Given the description of an element on the screen output the (x, y) to click on. 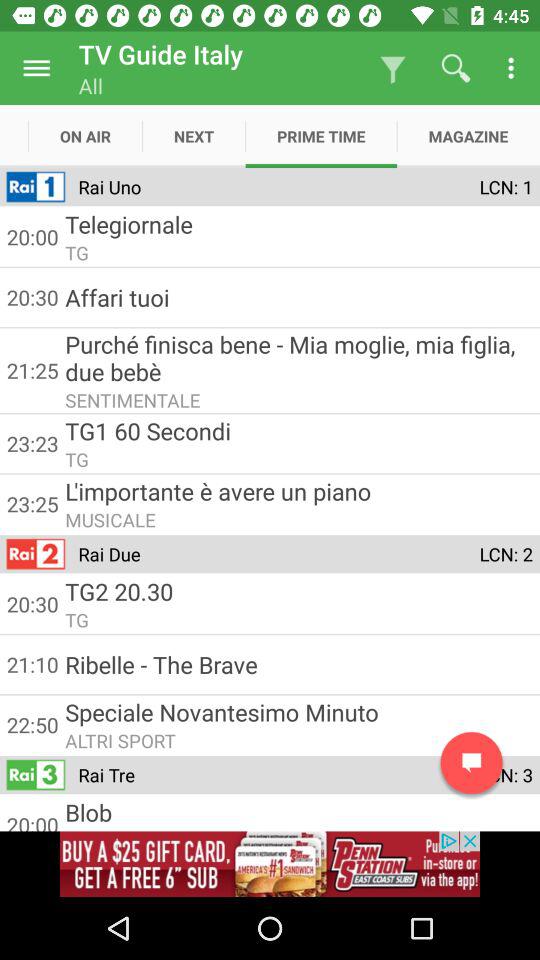
go to menu (36, 68)
